Given the description of an element on the screen output the (x, y) to click on. 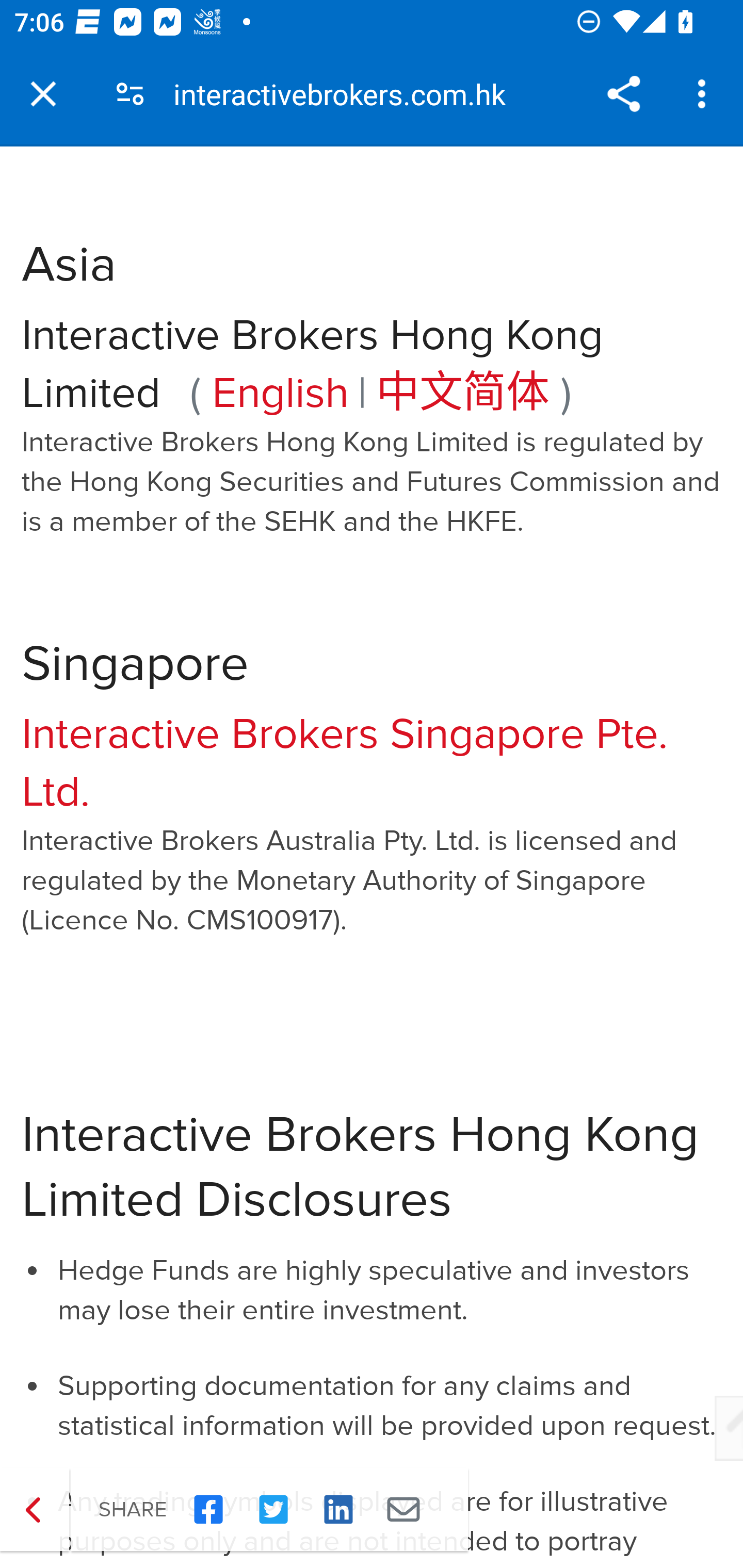
Close tab (43, 93)
Share (623, 93)
Customize and control Google Chrome (705, 93)
Connection is secure (129, 93)
interactivebrokers.com.hk (346, 93)
English (280, 393)
中文简体 (462, 393)
Interactive Brokers Singapore Pte. Ltd. (345, 763)
Share on Facebook  (208, 1509)
Share on Twitter  (272, 1509)
Share on Linkedin  (338, 1509)
Share by Email  (403, 1509)
